Given the description of an element on the screen output the (x, y) to click on. 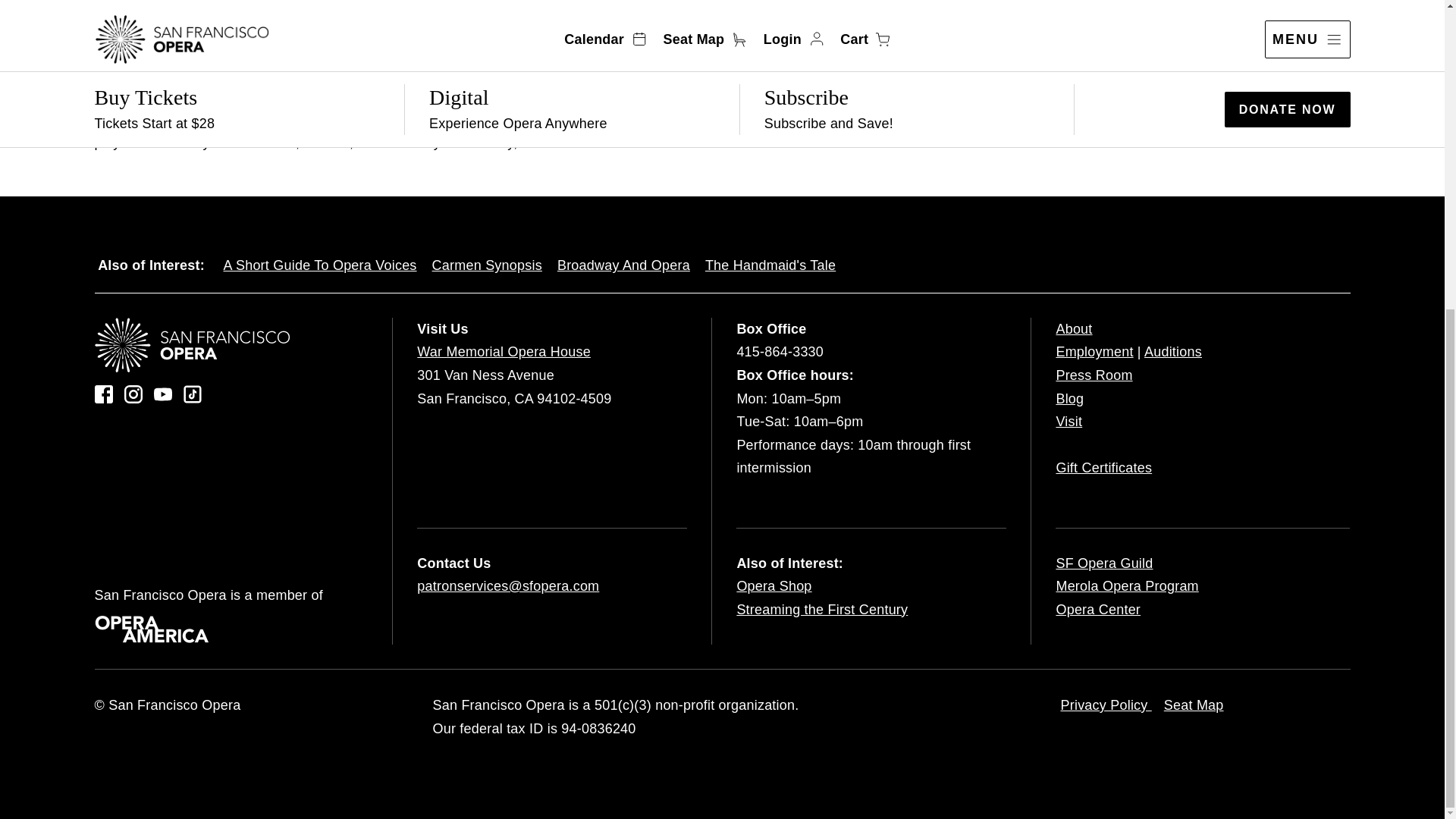
Visit (1068, 421)
A Short Guide To Opera Voices (319, 265)
Carmen Synopsis (486, 265)
Opera Guild (1104, 563)
Merola Opera Program (1126, 586)
Broadway And Opera (623, 265)
Opera Center (1097, 609)
Find San Francisco Opera on Facebook (103, 393)
About (1073, 329)
The Handmaid'S Tale (769, 265)
